Given the description of an element on the screen output the (x, y) to click on. 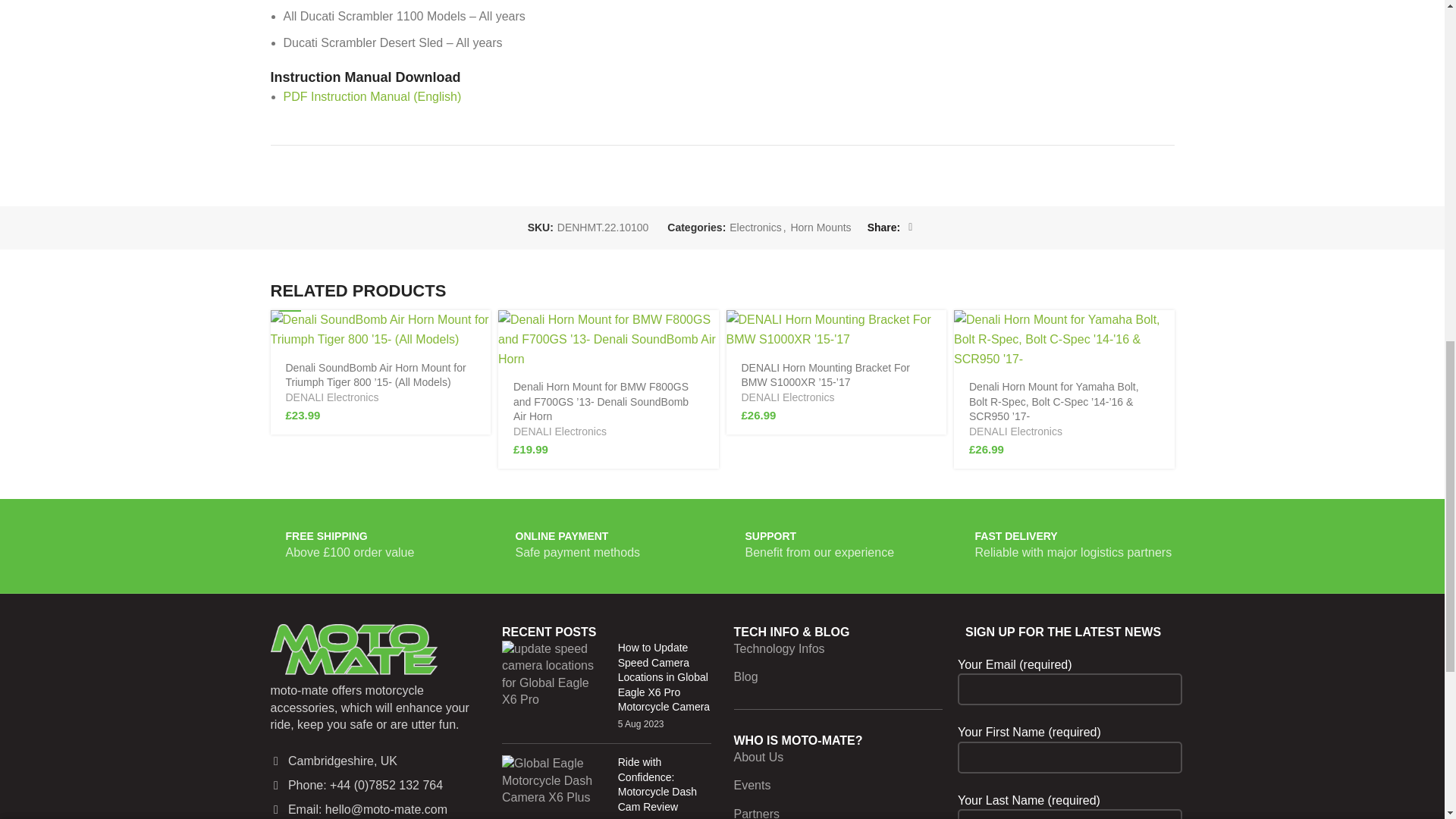
Click To Download PDF Instruction Manual (372, 96)
